Given the description of an element on the screen output the (x, y) to click on. 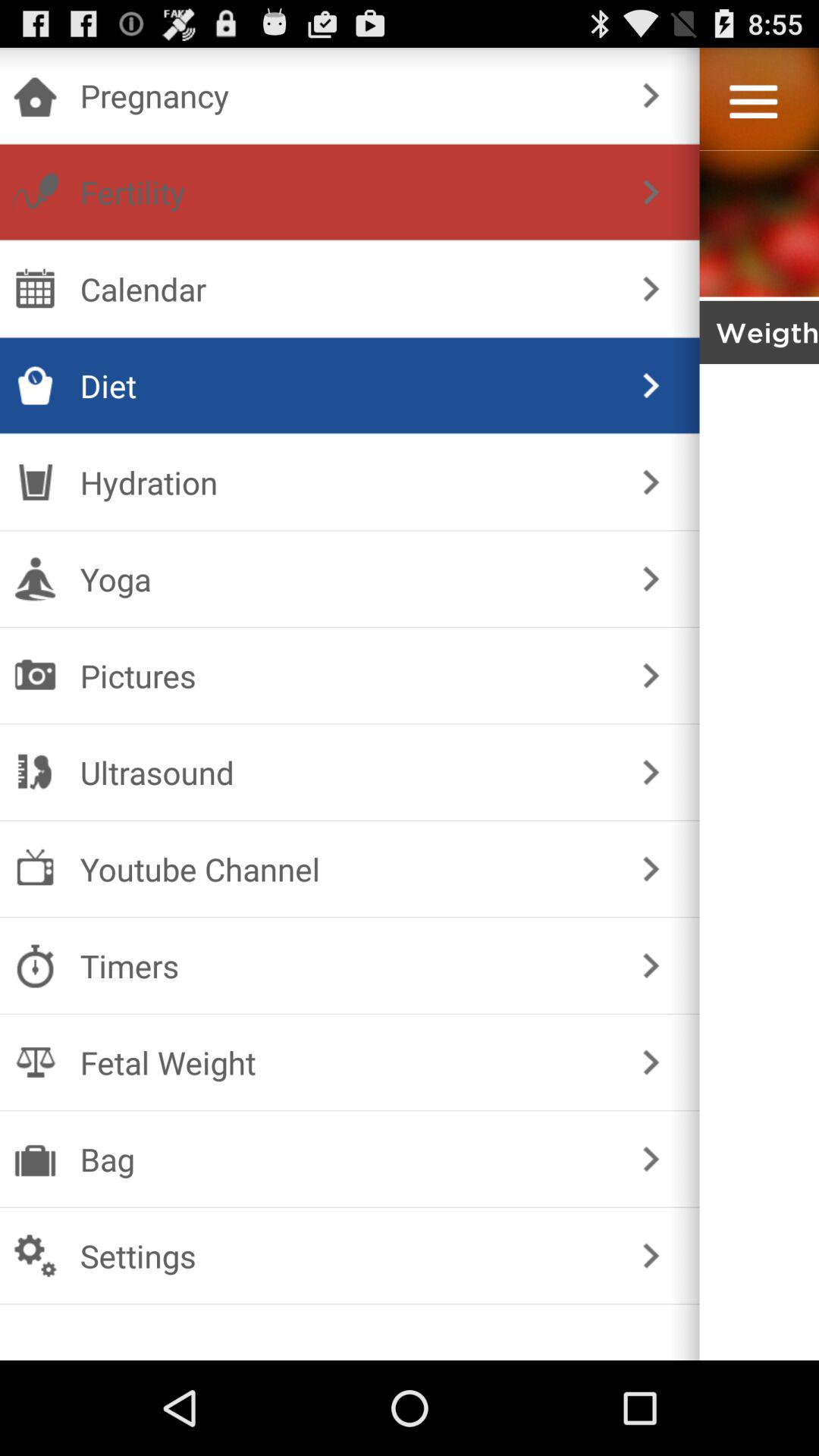
choose checkbox below the fertility item (346, 288)
